Given the description of an element on the screen output the (x, y) to click on. 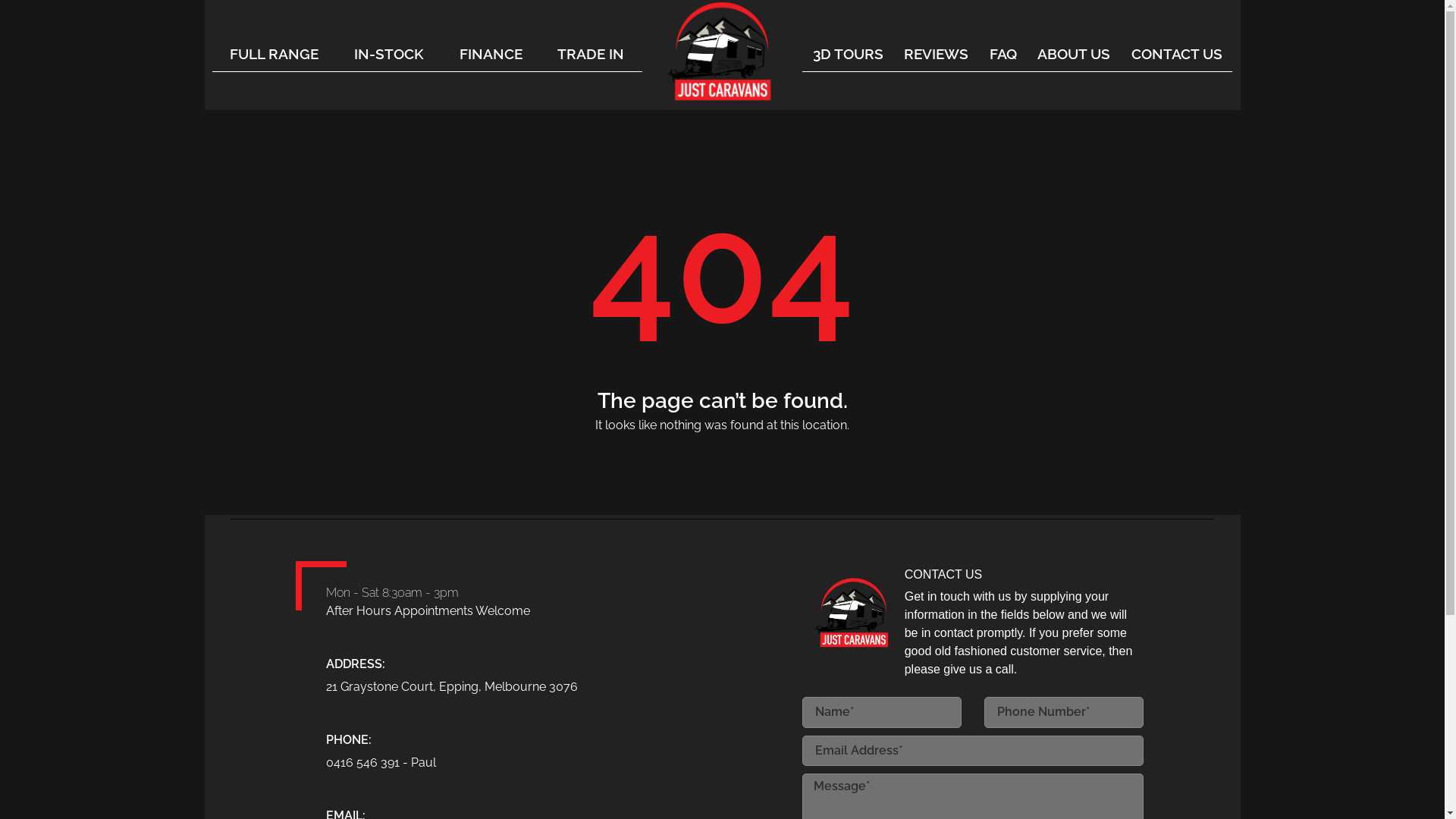
0416 546 391 - Paul Element type: text (466, 762)
REVIEWS Element type: text (936, 53)
FULL RANGE Element type: text (274, 53)
CONTACT US Element type: text (1176, 53)
21 Graystone Court, Epping, Melbourne 3076 Element type: text (466, 686)
IN-STOCK Element type: text (388, 53)
ABOUT US Element type: text (1073, 53)
FINANCE Element type: text (490, 53)
FAQ Element type: text (1002, 53)
3D TOURS Element type: text (847, 53)
TRADE IN Element type: text (590, 53)
